Given the description of an element on the screen output the (x, y) to click on. 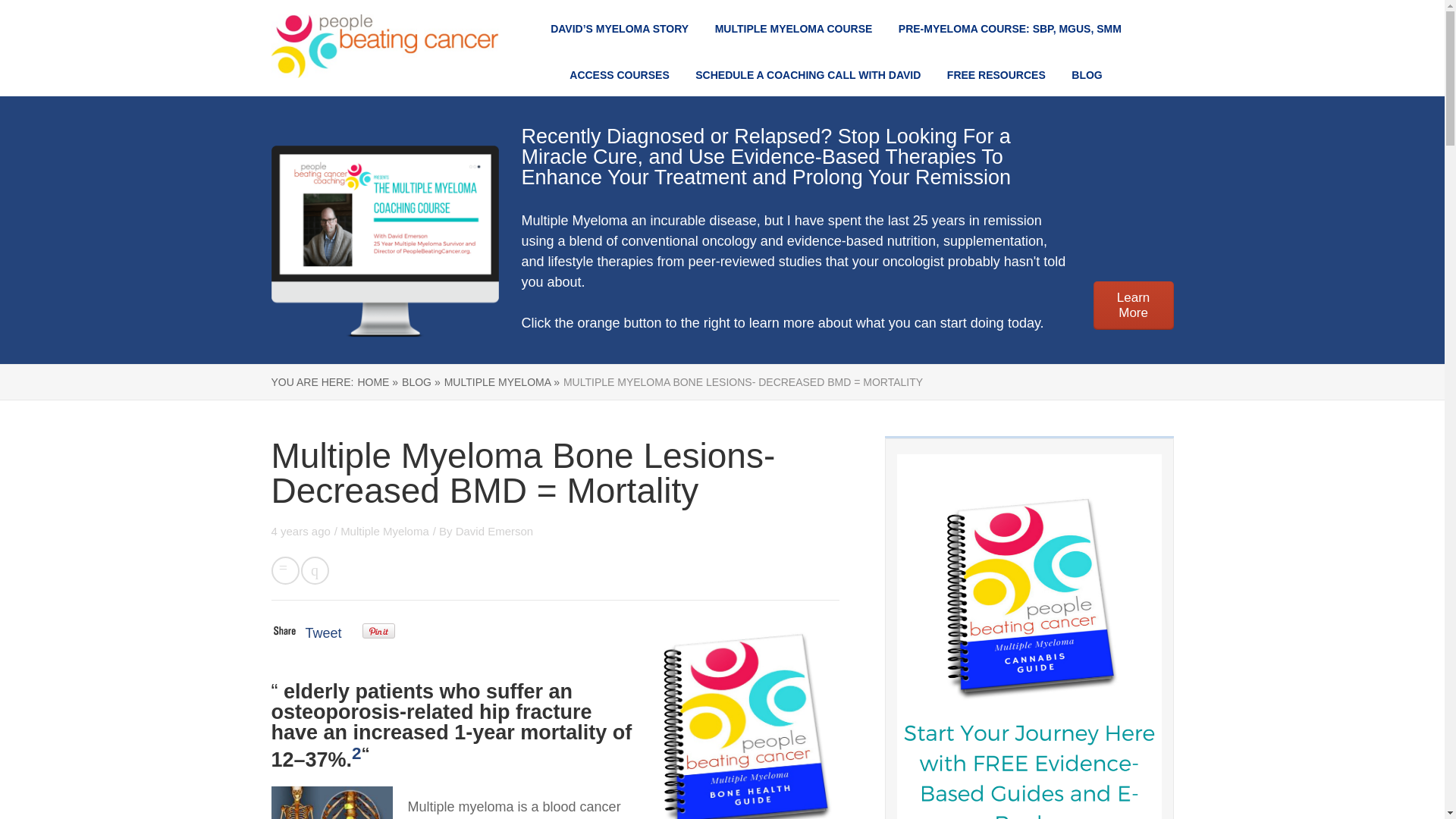
David Emerson (493, 530)
ACCESS COURSES (618, 74)
Tweet (322, 632)
Multiple Myeloma (384, 530)
BLOG (1086, 74)
Pin It (378, 631)
FREE RESOURCES (996, 74)
MULTIPLE MYELOMA COURSE (793, 28)
PRE-MYELOMA COURSE: SBP, MGUS, SMM (1009, 28)
Learn More (1133, 305)
MM Bone Health (744, 717)
SCHEDULE A COACHING CALL WITH DAVID (807, 74)
